Given the description of an element on the screen output the (x, y) to click on. 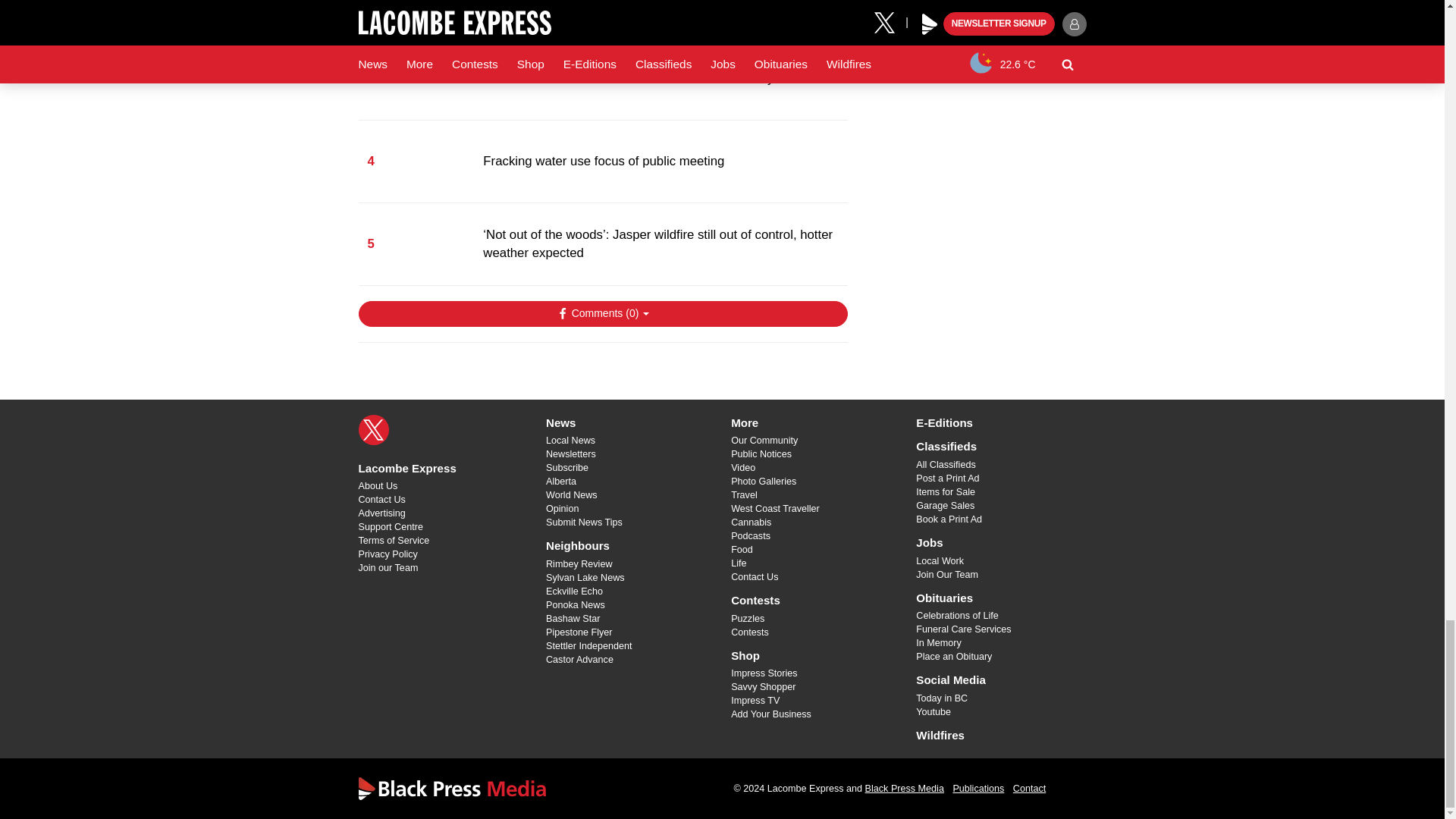
X (373, 429)
Show Comments (602, 313)
